Given the description of an element on the screen output the (x, y) to click on. 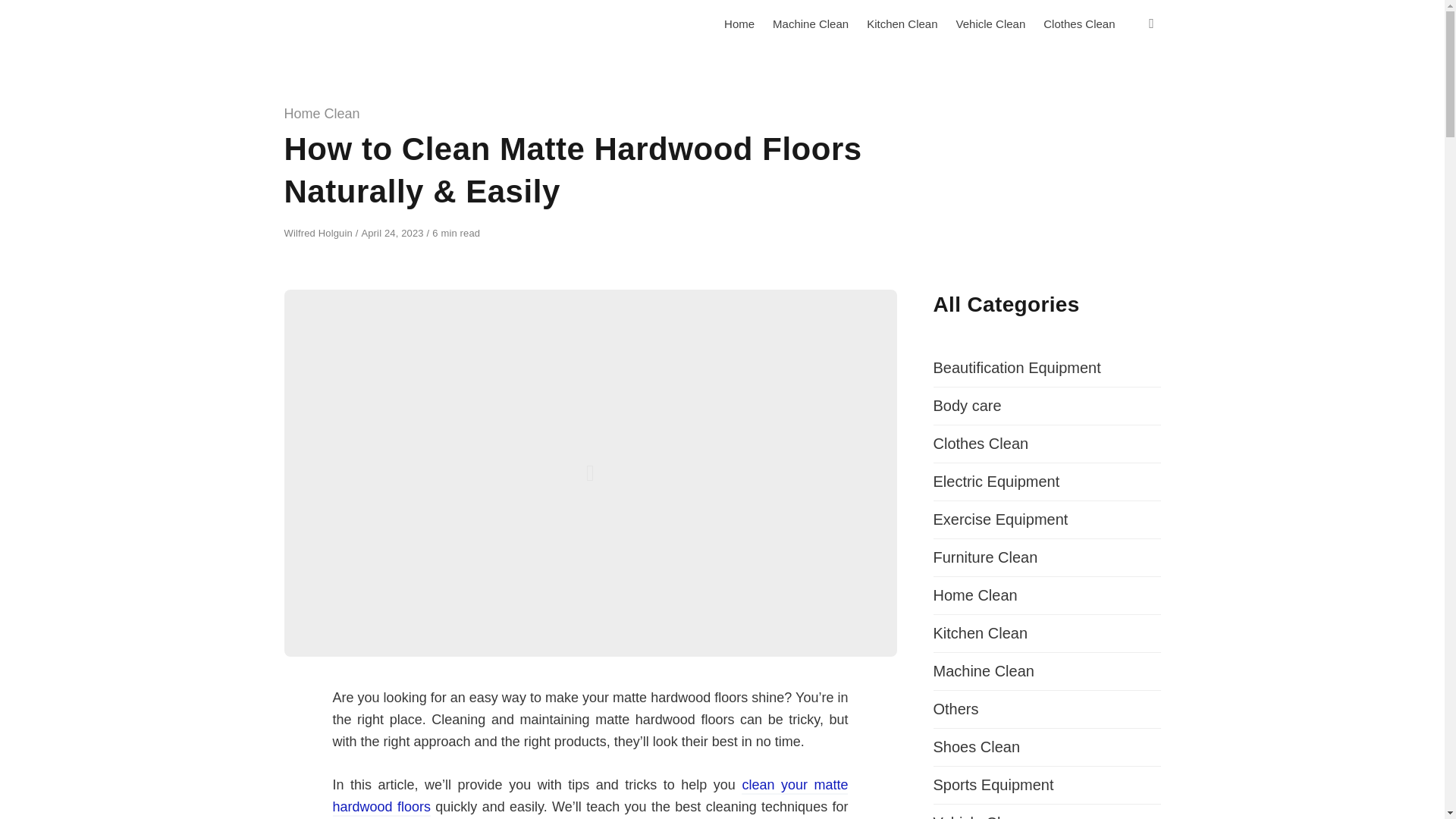
Clothes Clean (980, 443)
Others (955, 709)
Home (738, 24)
Exercise Equipment (1000, 519)
Sports Equipment (992, 784)
Body care (967, 405)
Wilfred Holguin (319, 233)
Clothes Clean (1078, 24)
Shoes Clean (976, 746)
Machine Clean (983, 670)
Vehicle Clean (979, 816)
April 24, 2023 (393, 233)
Electric Equipment (996, 481)
Home Clean (321, 113)
